Given the description of an element on the screen output the (x, y) to click on. 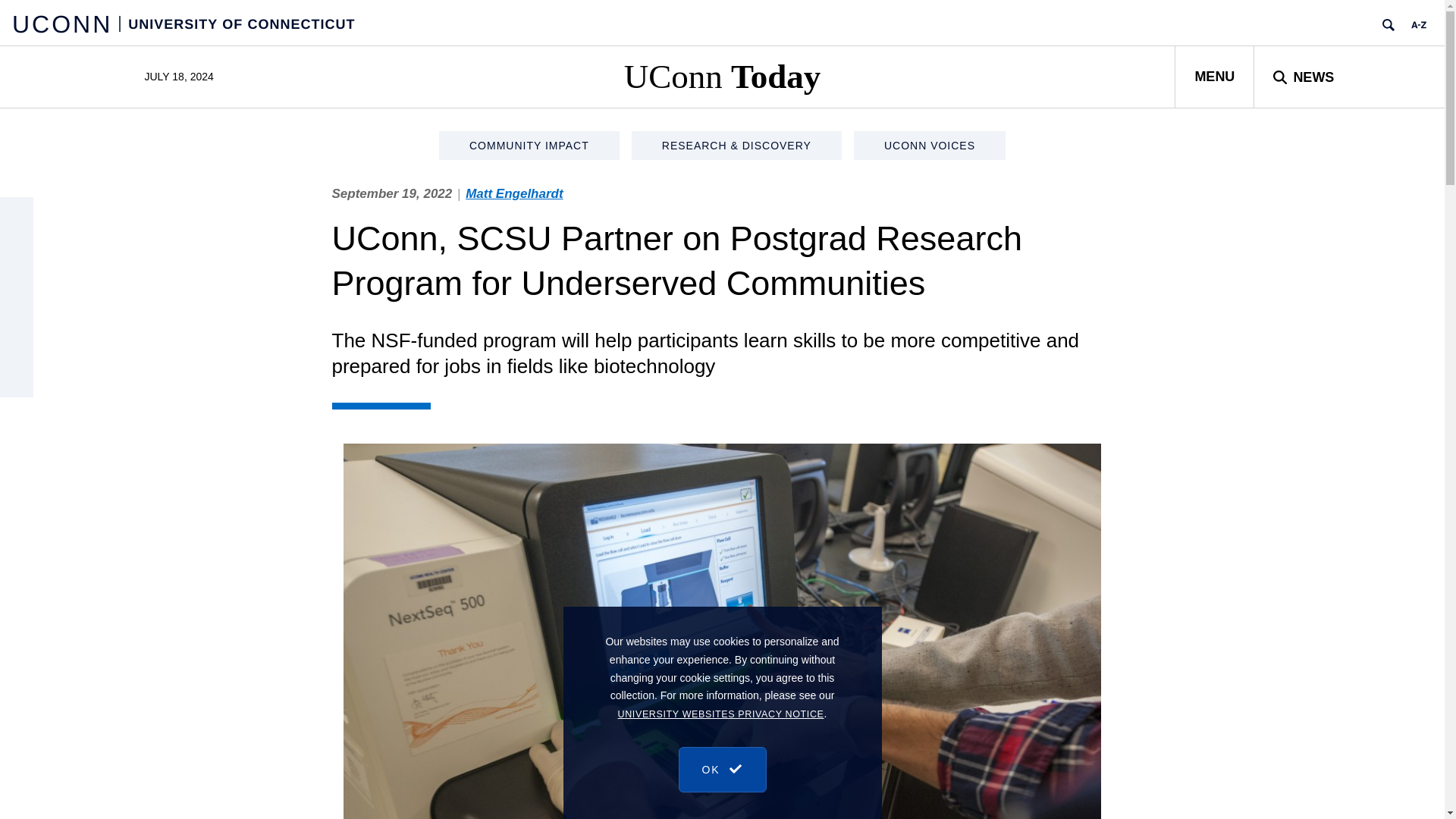
UConn A to Z Search (1418, 24)
Share on Facebook (16, 346)
Share on LinkedIn (16, 313)
Search UConn (1388, 24)
Email article (16, 246)
Open Menu (1213, 76)
Share on Reddit (16, 380)
Share on Twitter (16, 280)
Search UConn Today News (1302, 76)
Copy link to article (16, 213)
